Given the description of an element on the screen output the (x, y) to click on. 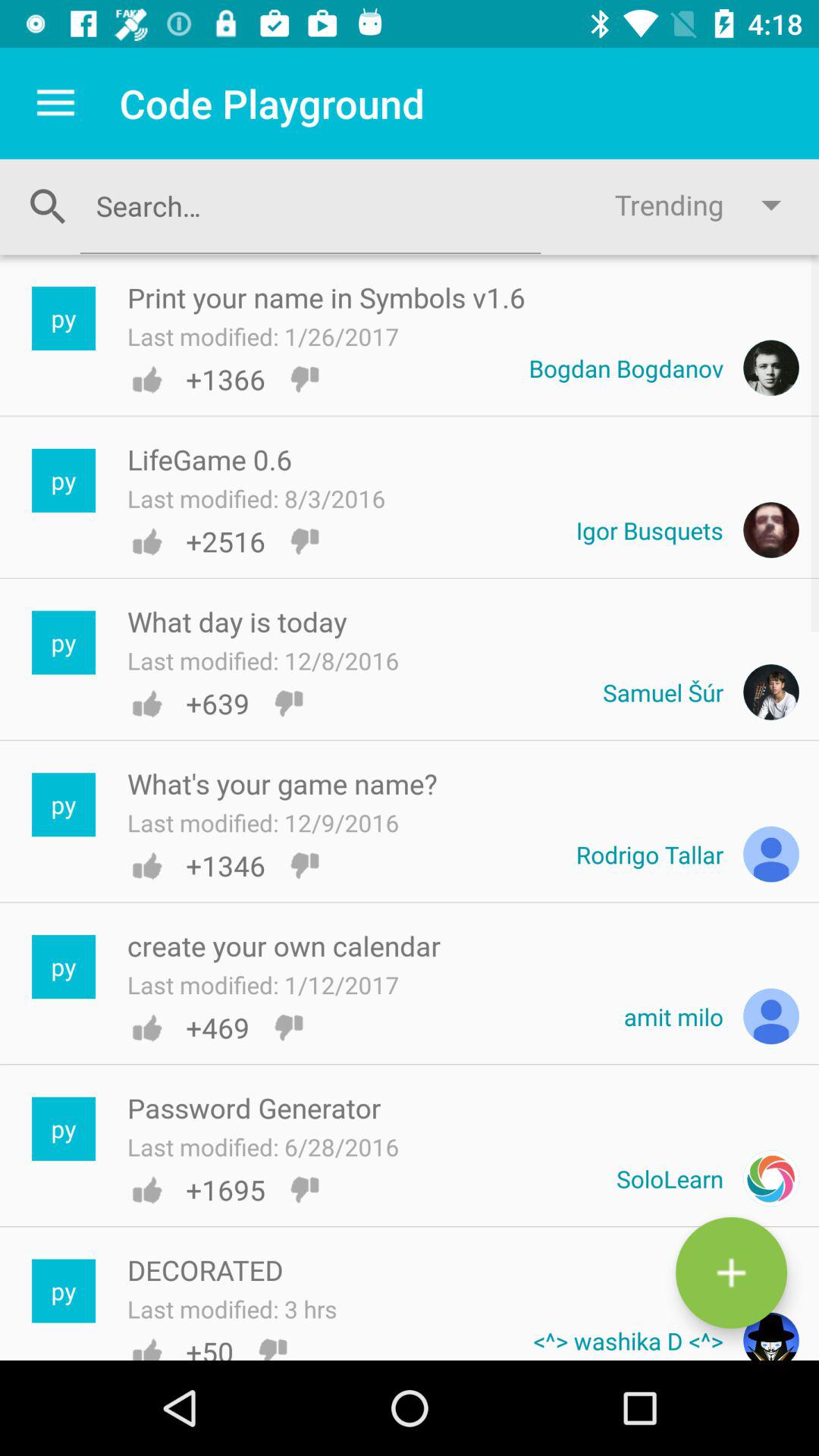
search (310, 205)
